Given the description of an element on the screen output the (x, y) to click on. 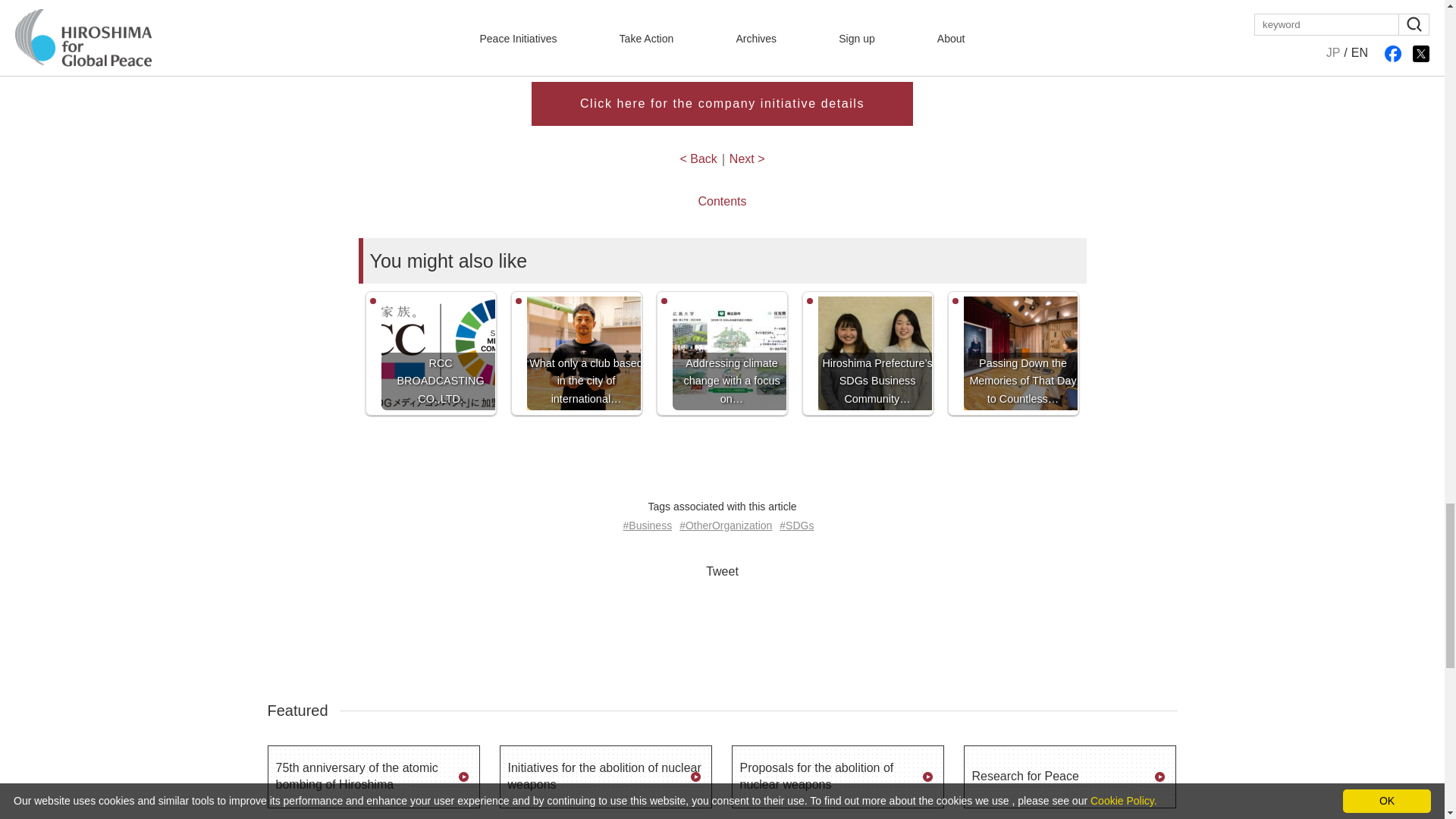
Click here for the company initiative details (721, 103)
Contents (721, 201)
